Given the description of an element on the screen output the (x, y) to click on. 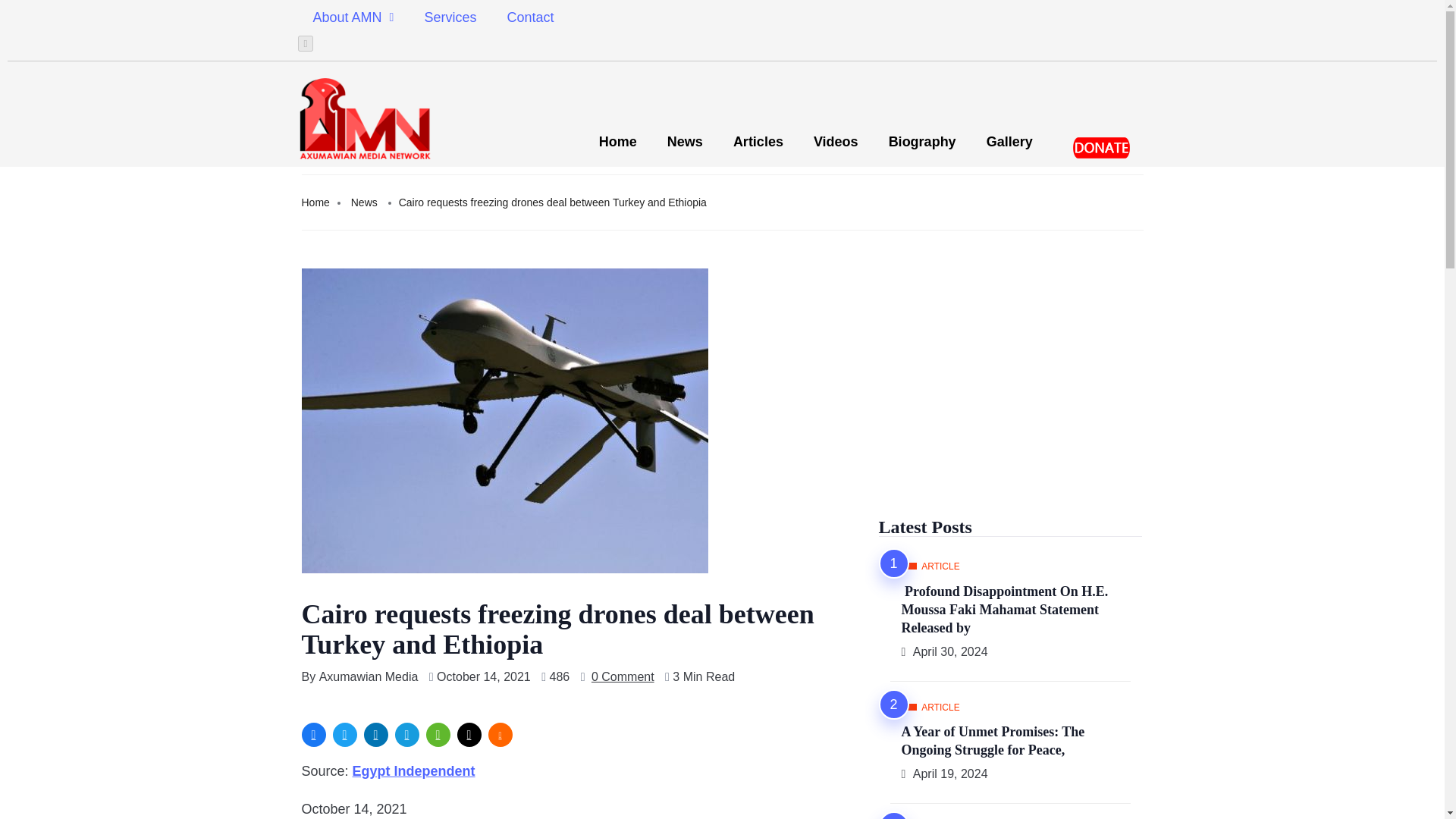
Home (315, 202)
Services (450, 17)
Articles (757, 141)
Biography (922, 141)
Tweet this ! (343, 734)
Gallery (1009, 141)
WhatsApp (437, 734)
0 Comment (622, 677)
Email this  (468, 734)
Contact (530, 17)
News (363, 202)
Home (617, 141)
About AMN (353, 17)
Videos (835, 141)
Axumawian Media (368, 677)
